Given the description of an element on the screen output the (x, y) to click on. 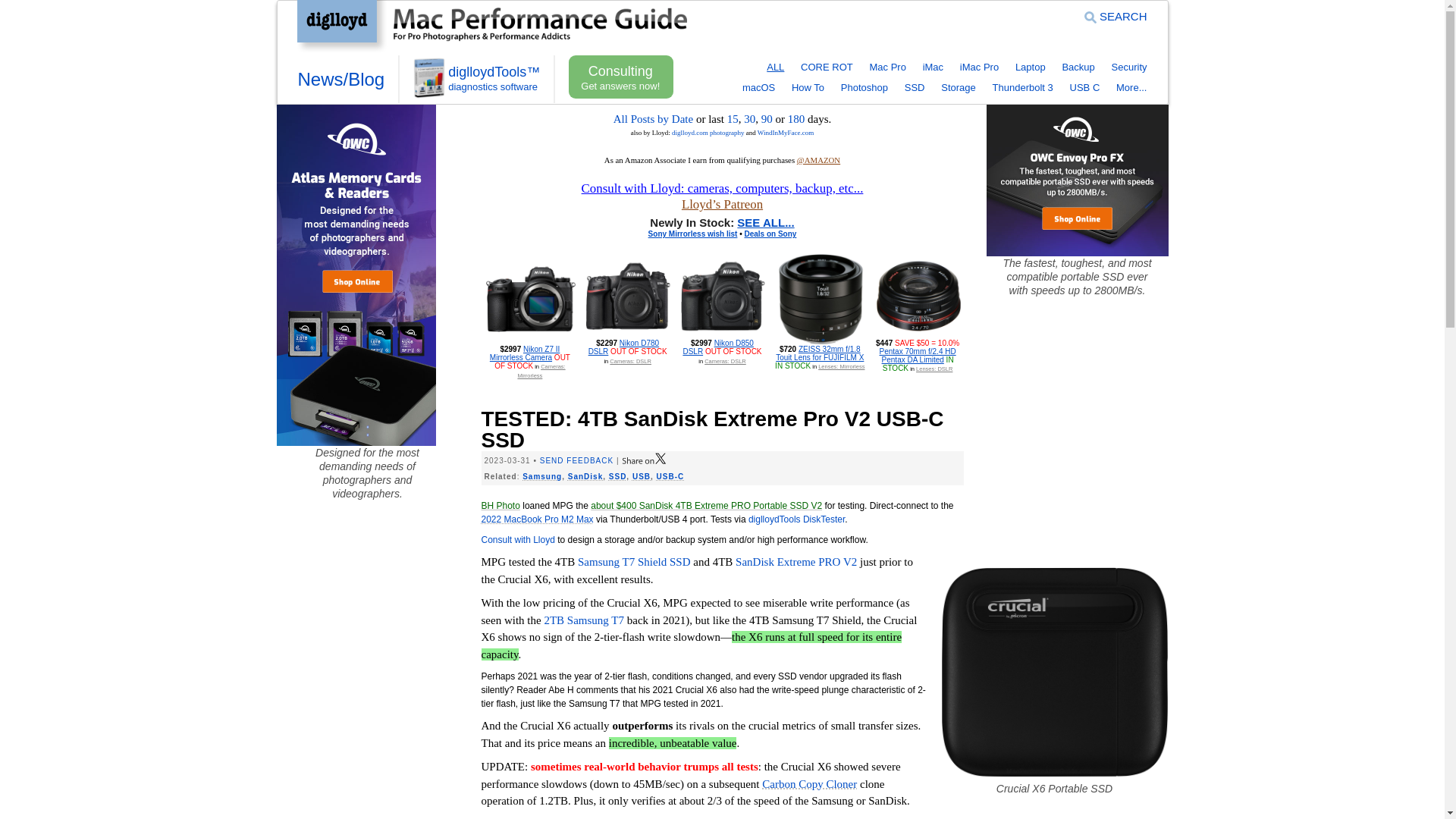
All Posts by Date (652, 119)
Thunderbolt 3 (1022, 87)
ALL (775, 66)
iMac Pro (978, 66)
macOS (758, 87)
diglloyd.com photography (707, 132)
Consult with Lloyd: cameras, computers, backup, etc... (721, 187)
180 (796, 119)
Deals on Sony (770, 234)
15 (732, 119)
Nikon Z7 II Mirrorless Camera (524, 352)
More... (1131, 87)
WindInMyFace.com (785, 132)
Sony Mirrorless wish list (692, 234)
USB C (1085, 87)
